Given the description of an element on the screen output the (x, y) to click on. 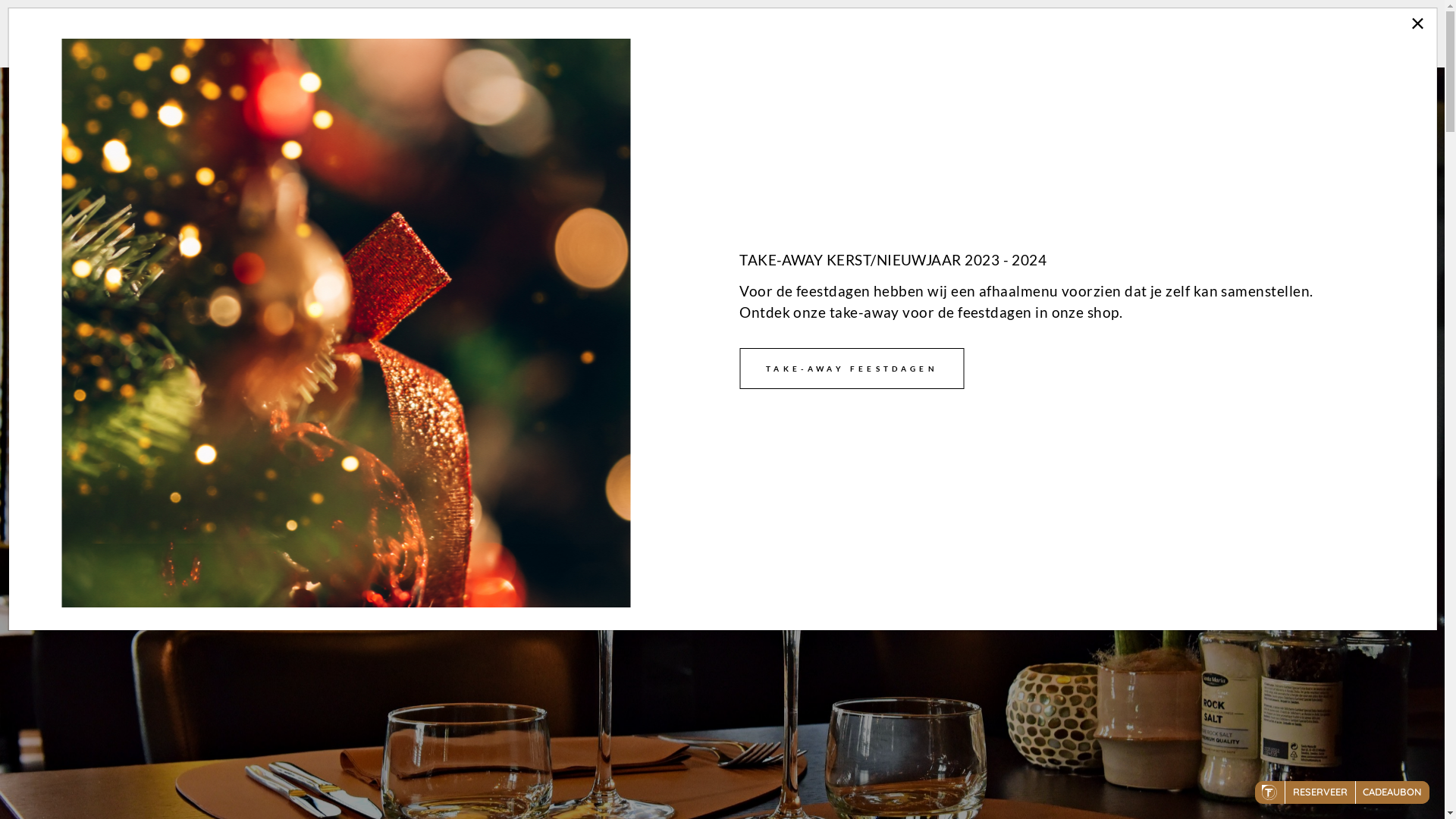
CONTACT Element type: text (1260, 35)
CADEAUBON Element type: text (788, 553)
FEESTDAGEN Element type: text (913, 35)
TAKE-AWAY FEESTDAGEN Element type: text (851, 368)
KAART Element type: text (1172, 35)
KAART Element type: text (636, 553)
HOME Element type: text (813, 35)
CADEAUBON Element type: text (1372, 35)
EERSTE WERKDAG Element type: text (1053, 35)
